Given the description of an element on the screen output the (x, y) to click on. 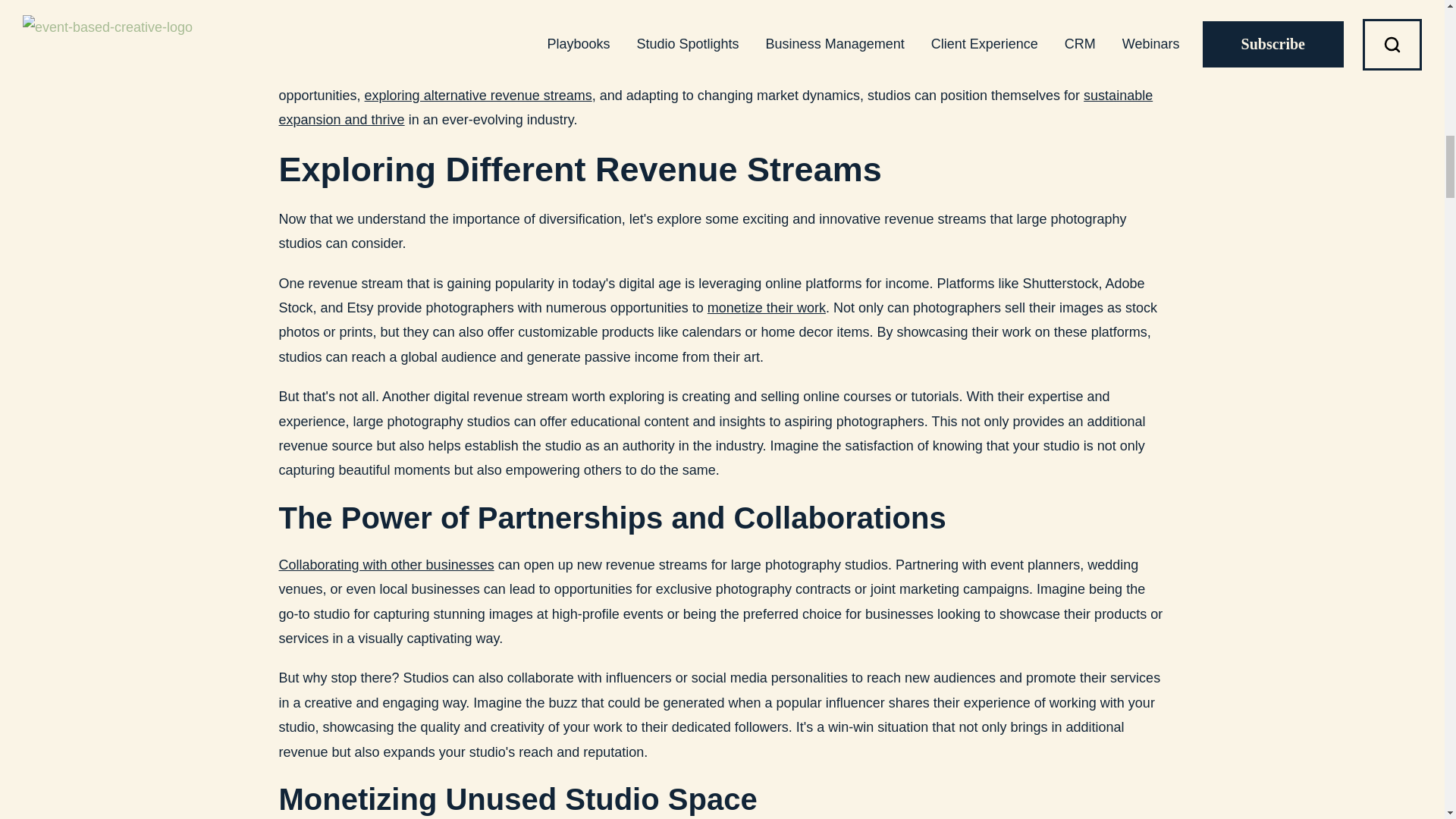
sustainable expansion and thrive (716, 107)
exploring alternative revenue streams (478, 95)
monetize their work (766, 307)
revenue diversification is crucial (462, 70)
Collaborating with other businesses (387, 564)
